Given the description of an element on the screen output the (x, y) to click on. 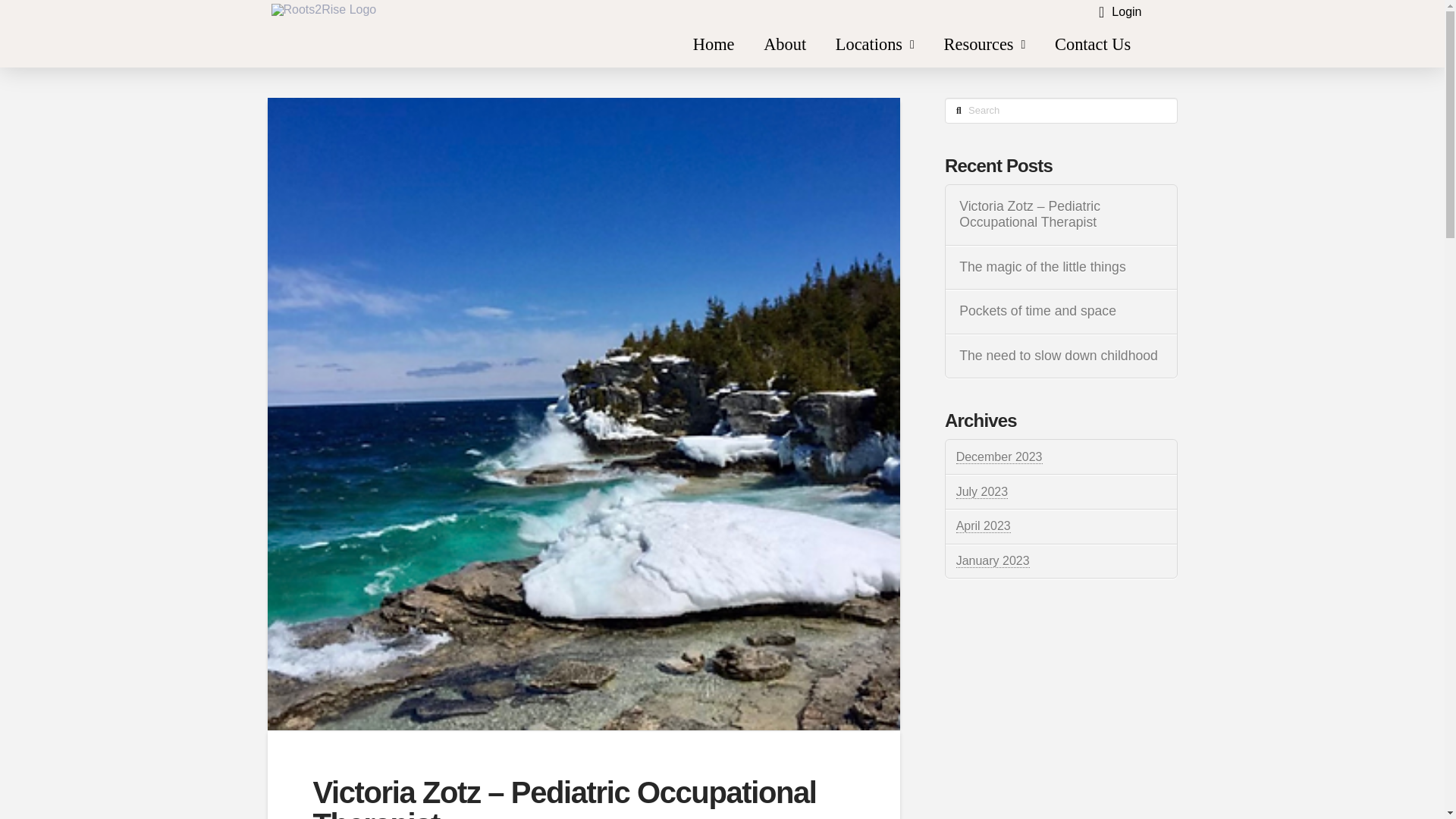
December 2023 (999, 457)
The magic of the little things (1060, 267)
Login (1119, 11)
April 2023 (983, 526)
Home (713, 44)
The need to slow down childhood (1060, 355)
Contact Us (1093, 44)
About (785, 44)
Resources (984, 44)
Locations (874, 44)
